Given the description of an element on the screen output the (x, y) to click on. 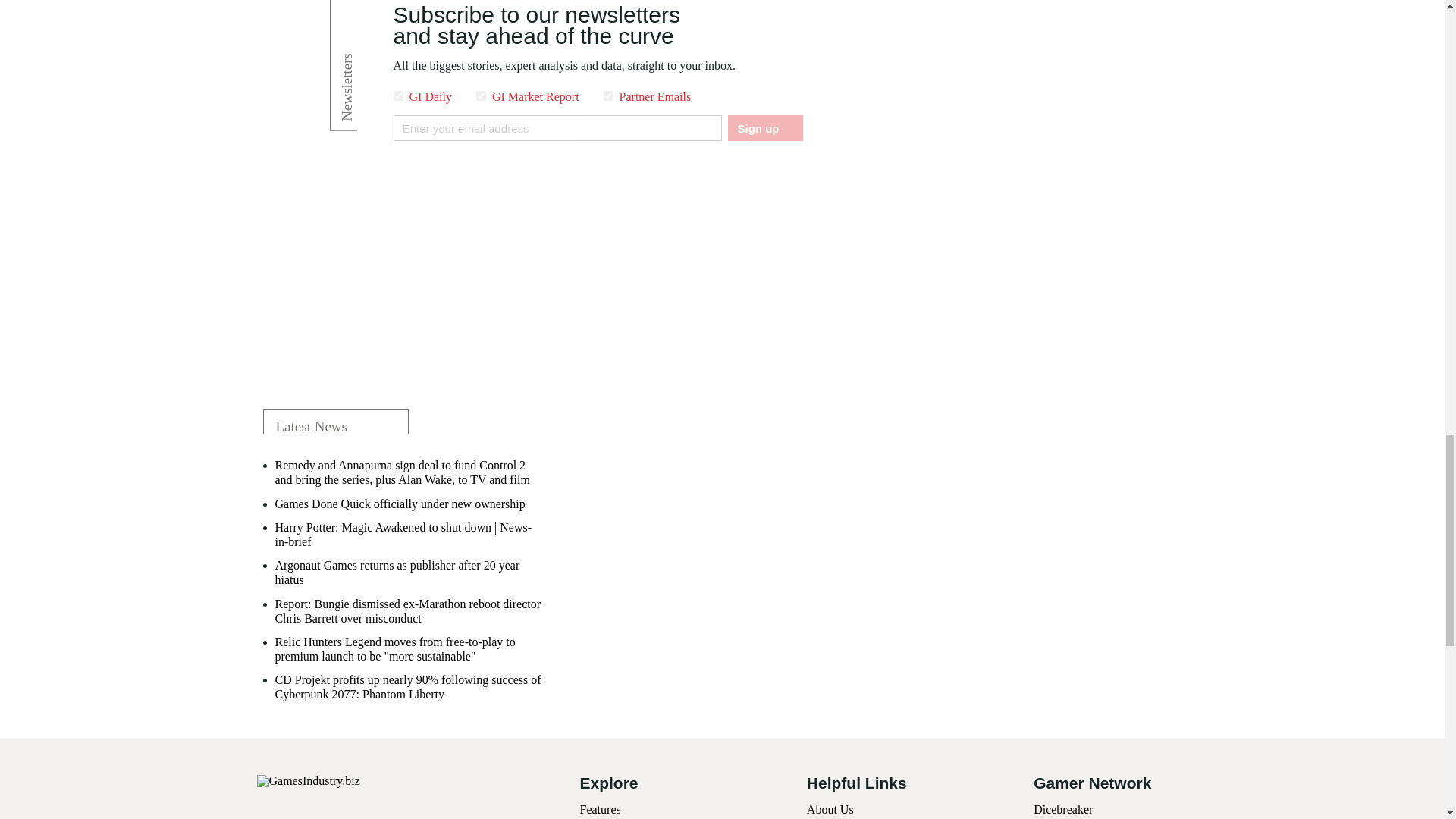
on (608, 95)
About Us (829, 809)
on (481, 95)
Features (599, 809)
Argonaut Games returns as publisher after 20 year hiatus (409, 572)
Sign up (765, 127)
Games Done Quick officially under new ownership (399, 503)
on (398, 95)
